Given the description of an element on the screen output the (x, y) to click on. 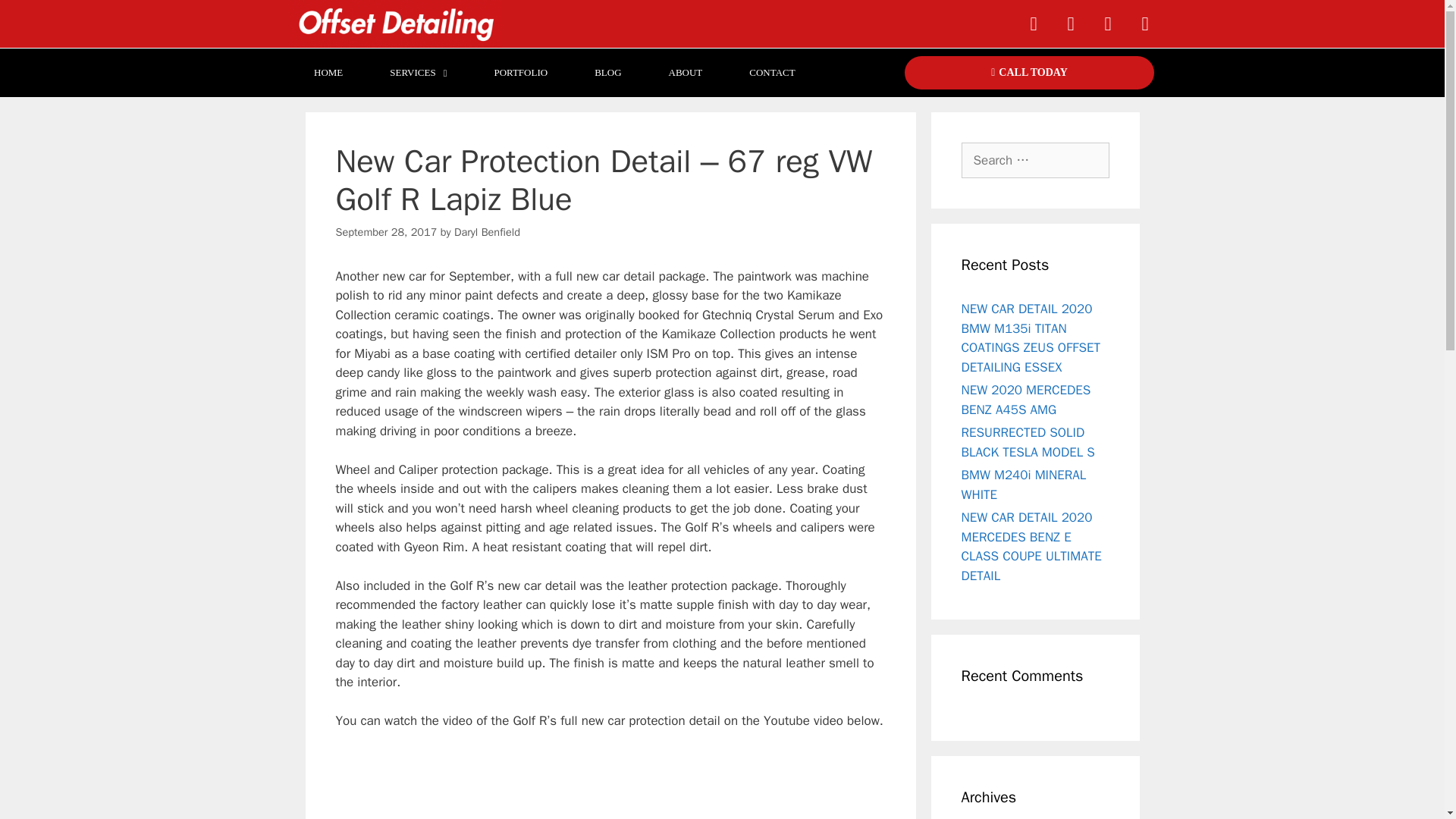
Daryl Benfield (486, 232)
PORTFOLIO (520, 72)
NEW 2020 MERCEDES BENZ A45S AMG (1025, 399)
BLOG (607, 72)
HOME (327, 72)
BMW M240i MINERAL WHITE (1023, 484)
Search for: (1034, 160)
CONTACT (771, 72)
RESURRECTED SOLID BLACK TESLA MODEL S (1027, 442)
ABOUT (685, 72)
